Given the description of an element on the screen output the (x, y) to click on. 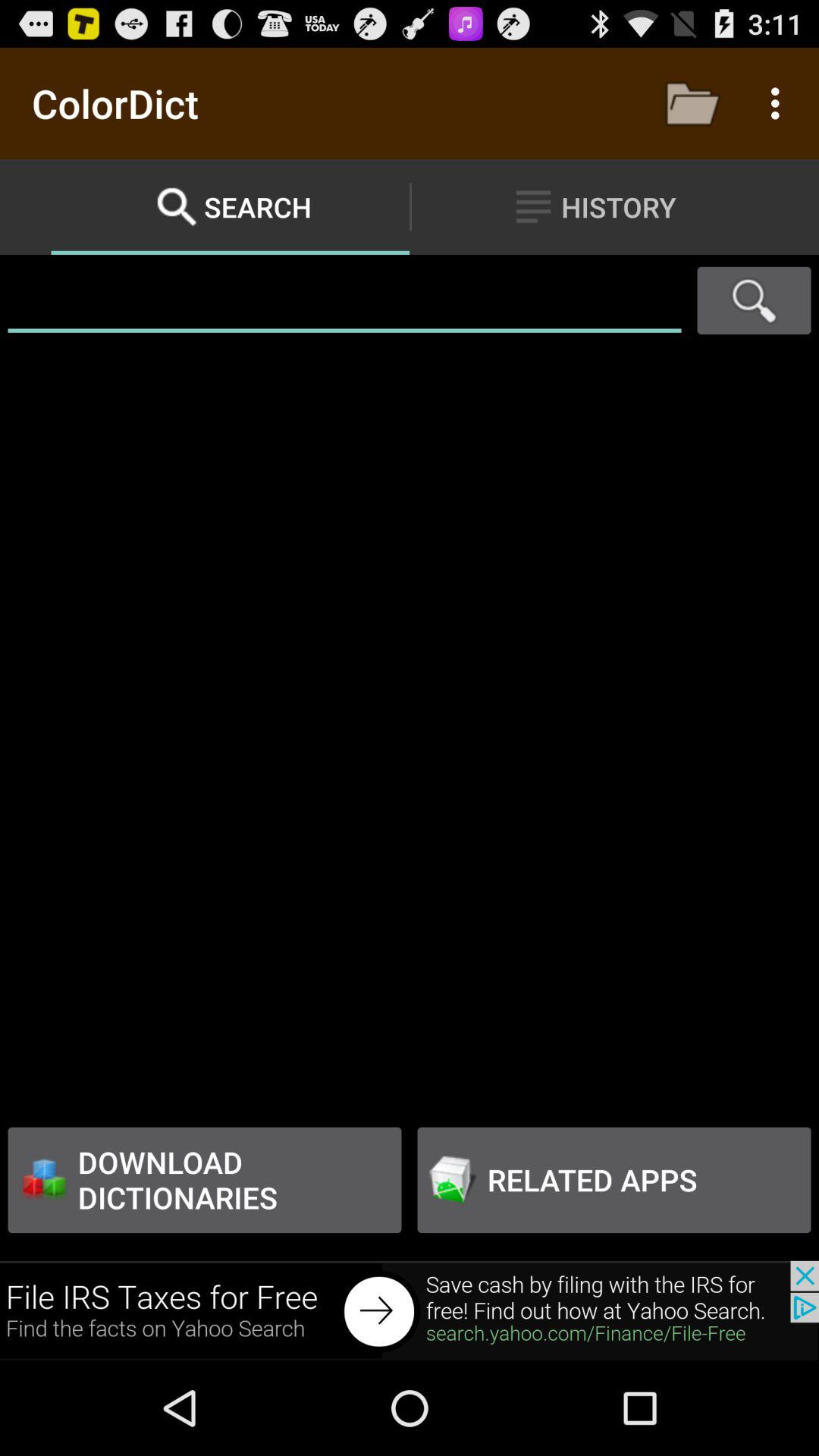
advertisements image (409, 1310)
